Given the description of an element on the screen output the (x, y) to click on. 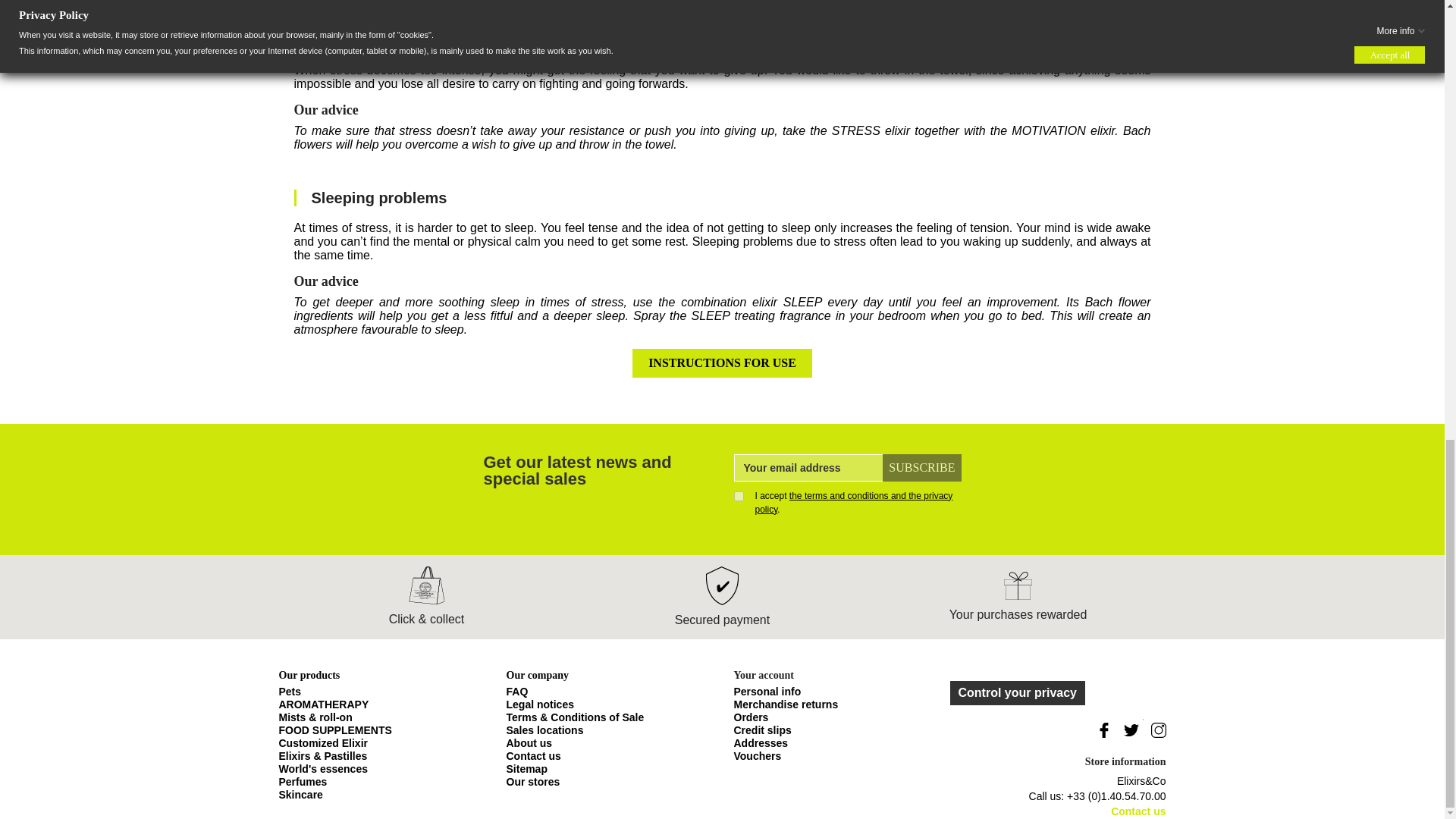
Subscribe (921, 467)
Use our form to contact us (533, 756)
Benevolent care for the body and the mind. (301, 794)
1 (738, 496)
